Given the description of an element on the screen output the (x, y) to click on. 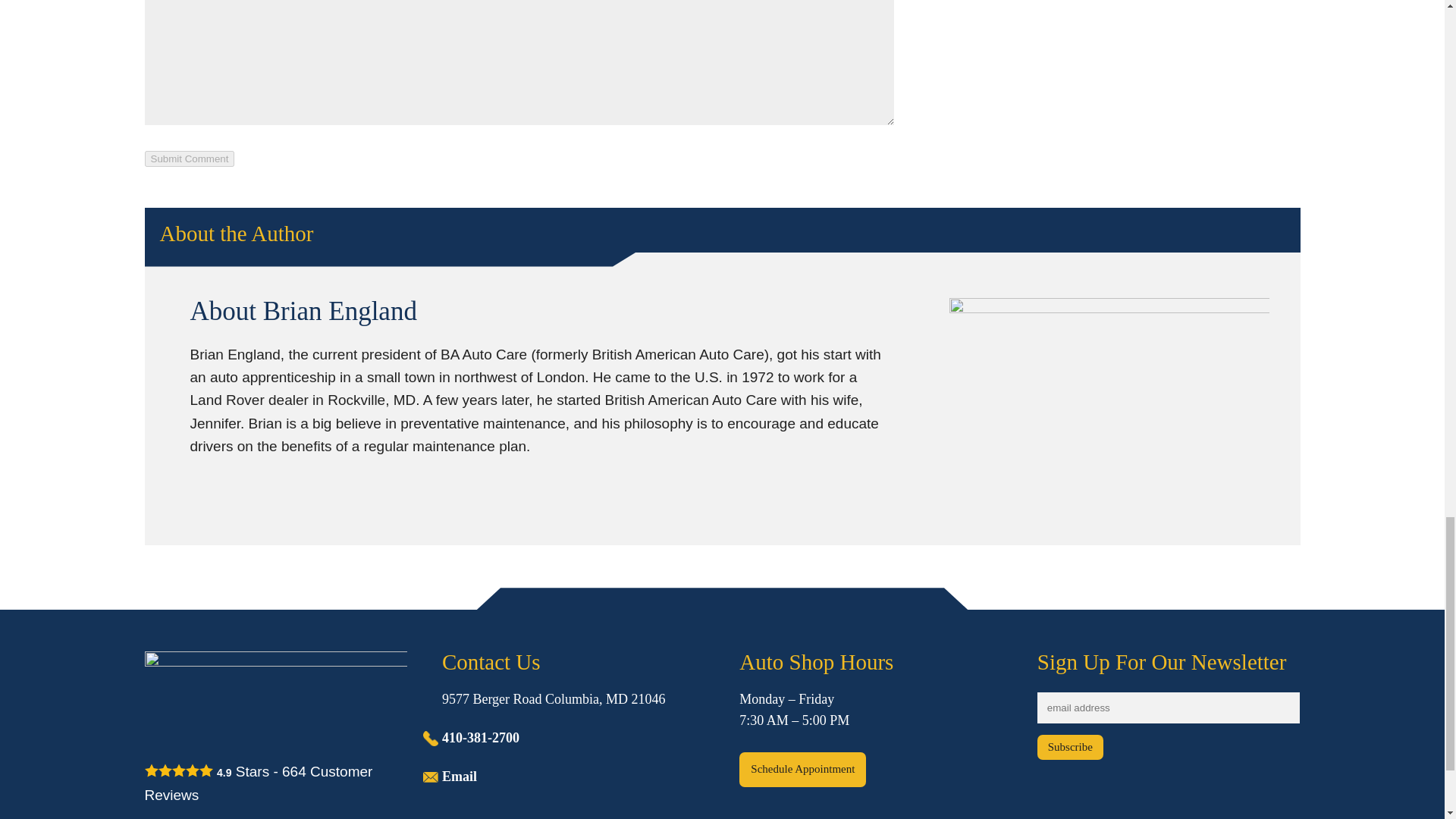
Awards (1127, 9)
brian (1109, 404)
45th-Logo (275, 697)
Subscribe (1069, 747)
